Given the description of an element on the screen output the (x, y) to click on. 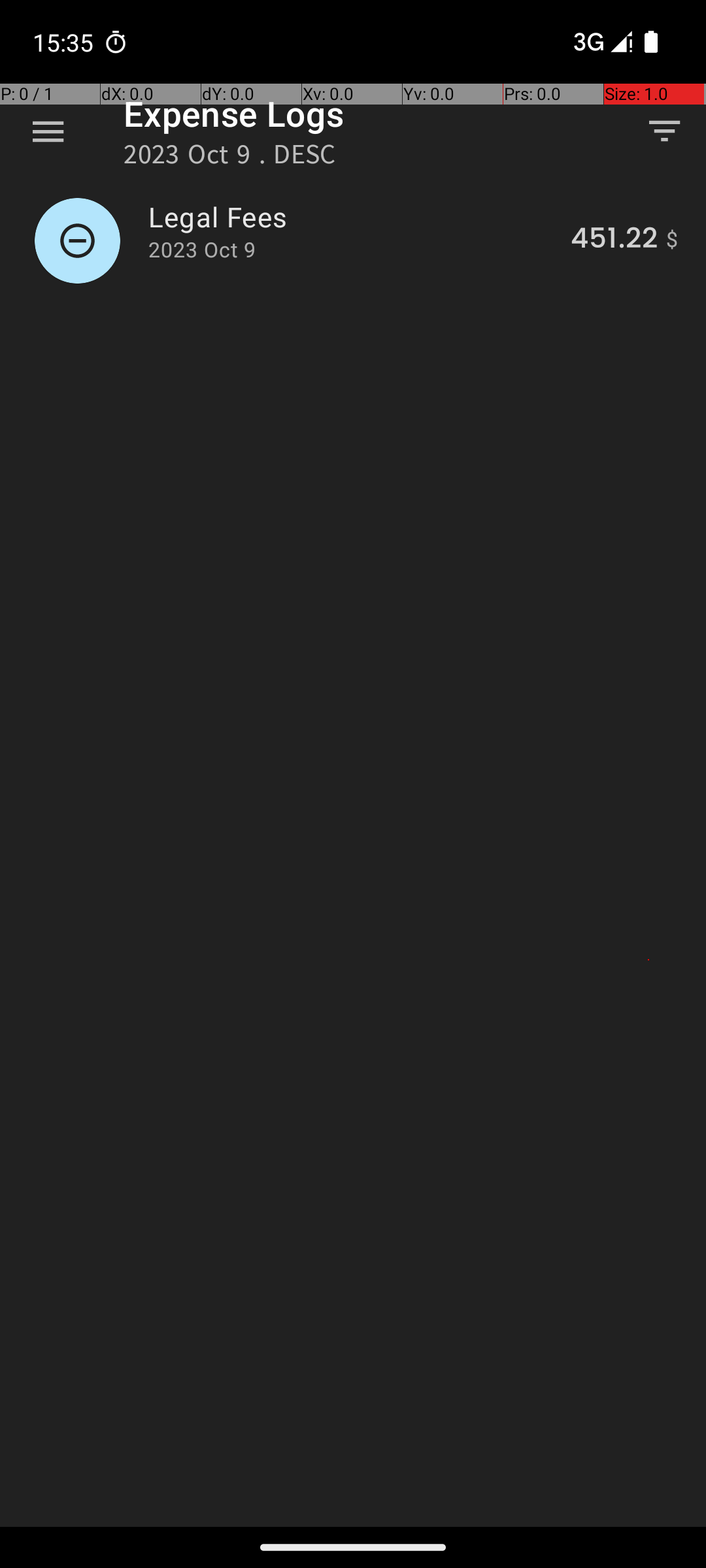
2023 Oct 9 . DESC Element type: android.widget.TextView (229, 157)
Legal Fees Element type: android.widget.TextView (351, 216)
451.22 Element type: android.widget.TextView (614, 240)
